Given the description of an element on the screen output the (x, y) to click on. 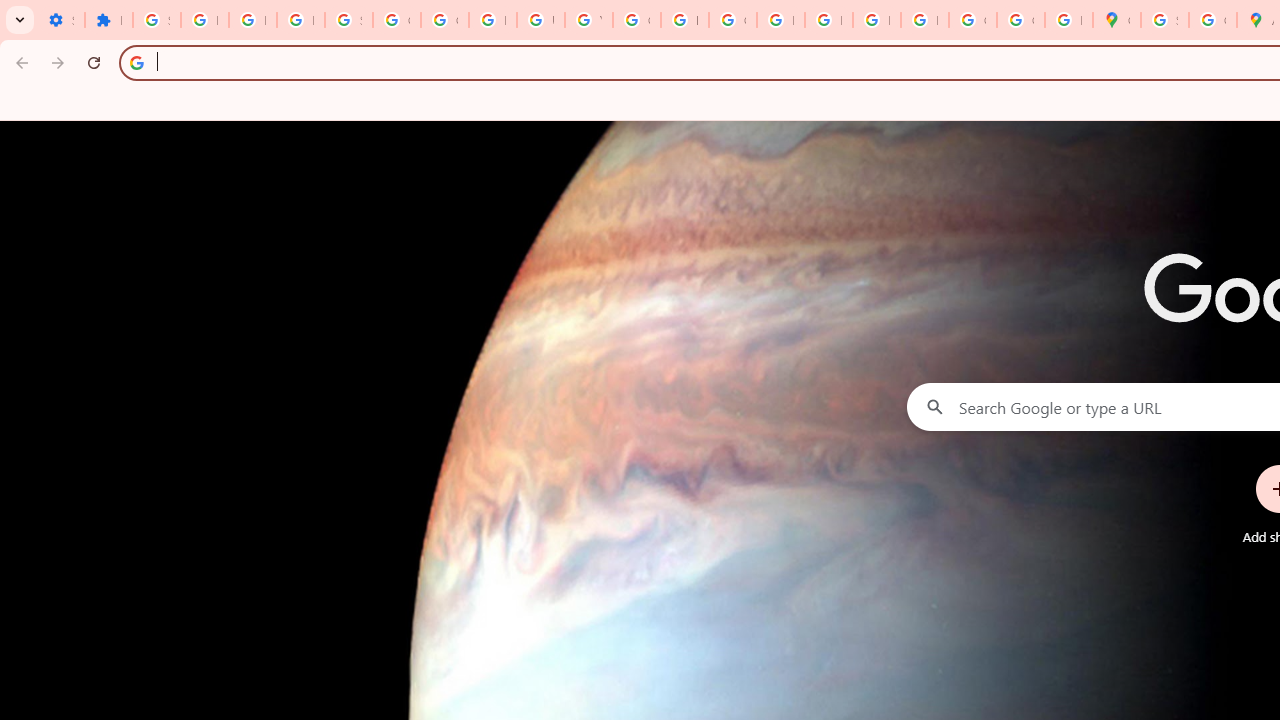
Google Maps (1116, 20)
Delete photos & videos - Computer - Google Photos Help (204, 20)
Settings - On startup (60, 20)
Create your Google Account (1212, 20)
Sign in - Google Accounts (348, 20)
